Given the description of an element on the screen output the (x, y) to click on. 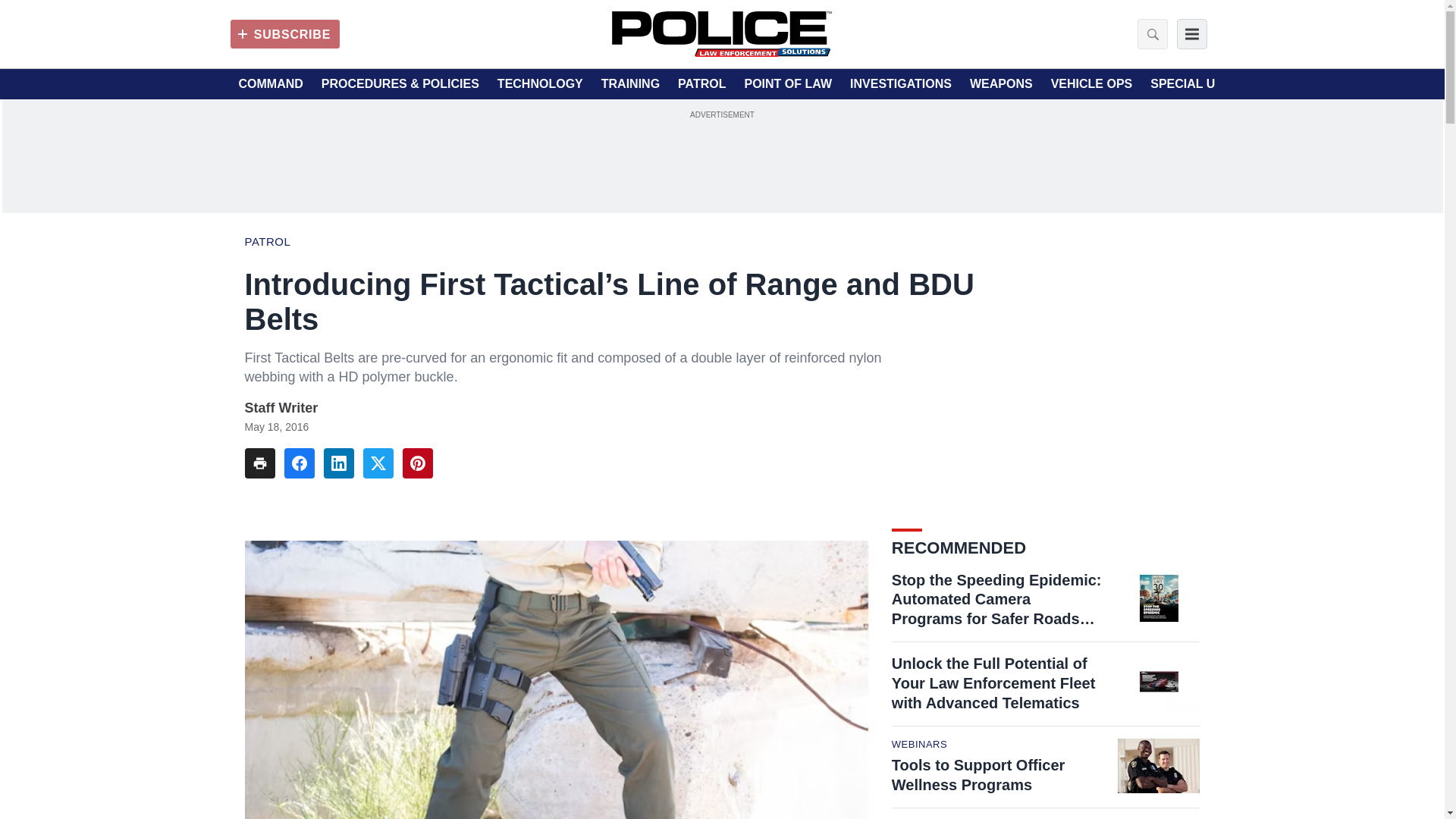
INVESTIGATIONS (901, 84)
Search (1147, 33)
WEAPONS (1000, 84)
Patrol (266, 241)
SUBSCRIBE (284, 33)
Share To twitter (377, 462)
Share To print (259, 462)
COMMAND (270, 84)
Share To facebook (298, 462)
POINT OF LAW (787, 84)
PATROL (701, 84)
Share To linkedin (338, 462)
VEHICLE OPS (1091, 84)
SPECIAL UNITS (1196, 84)
Share To pinterest (416, 462)
